Given the description of an element on the screen output the (x, y) to click on. 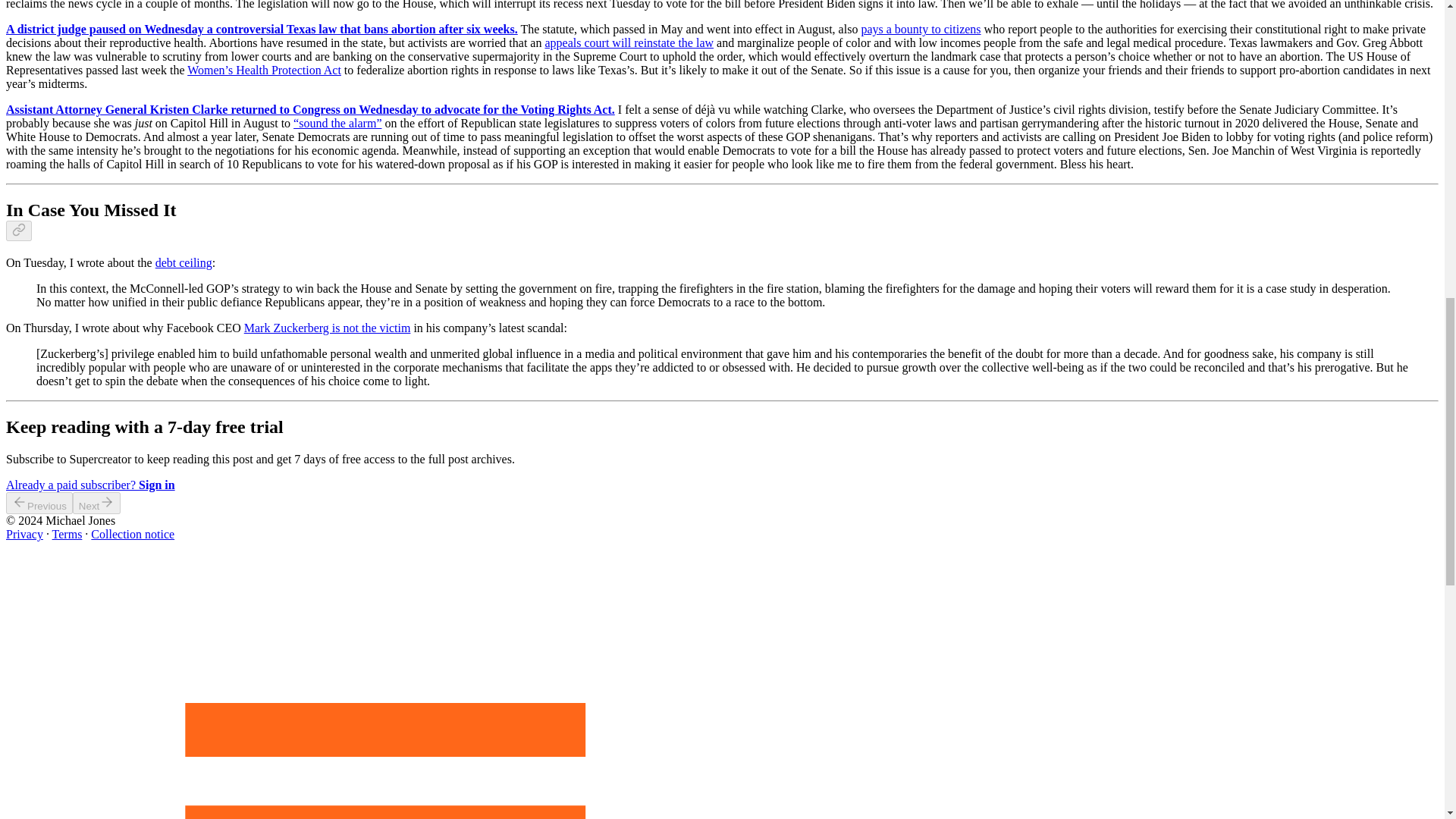
appeals court will reinstate the law (628, 42)
Previous (38, 503)
Collection notice (132, 533)
pays a bounty to citizens (919, 29)
Terms (67, 533)
Next (96, 503)
Mark Zuckerberg is not the victim (327, 327)
Already a paid subscriber? Sign in (89, 484)
Privacy (24, 533)
